Given the description of an element on the screen output the (x, y) to click on. 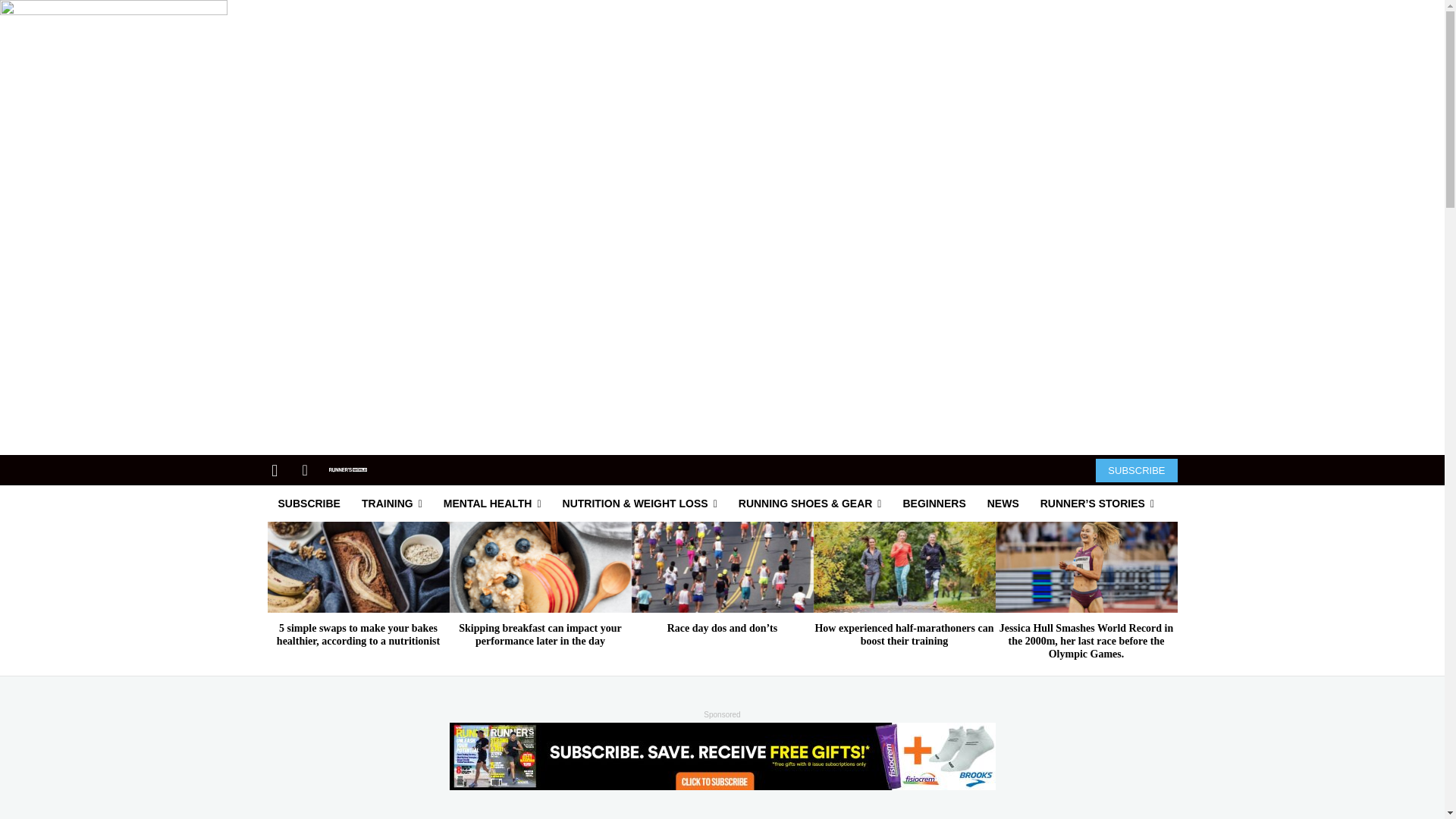
SUBSCRIBE (1136, 469)
